Given the description of an element on the screen output the (x, y) to click on. 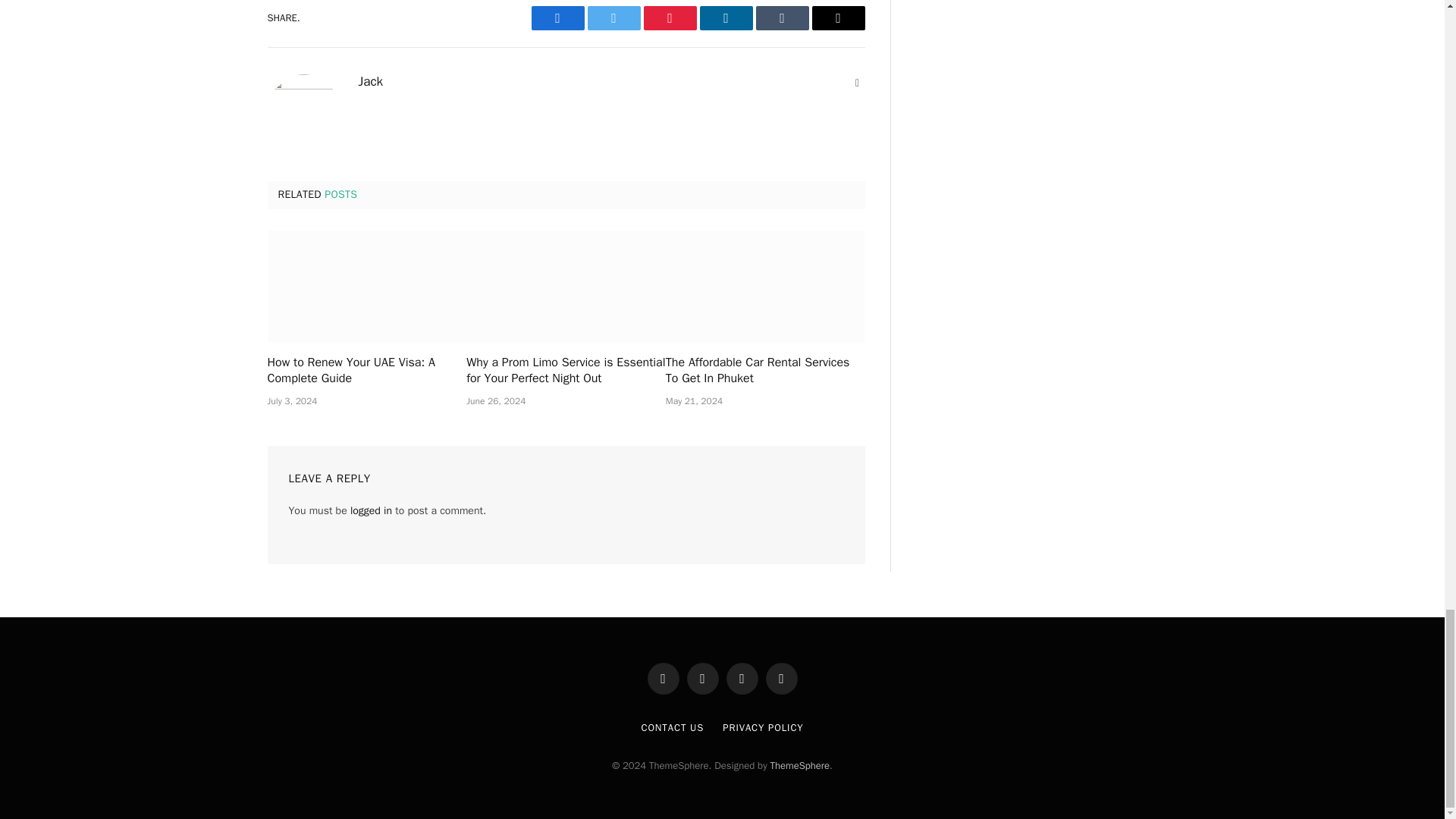
Pinterest (669, 17)
Twitter (613, 17)
Facebook (557, 17)
